Given the description of an element on the screen output the (x, y) to click on. 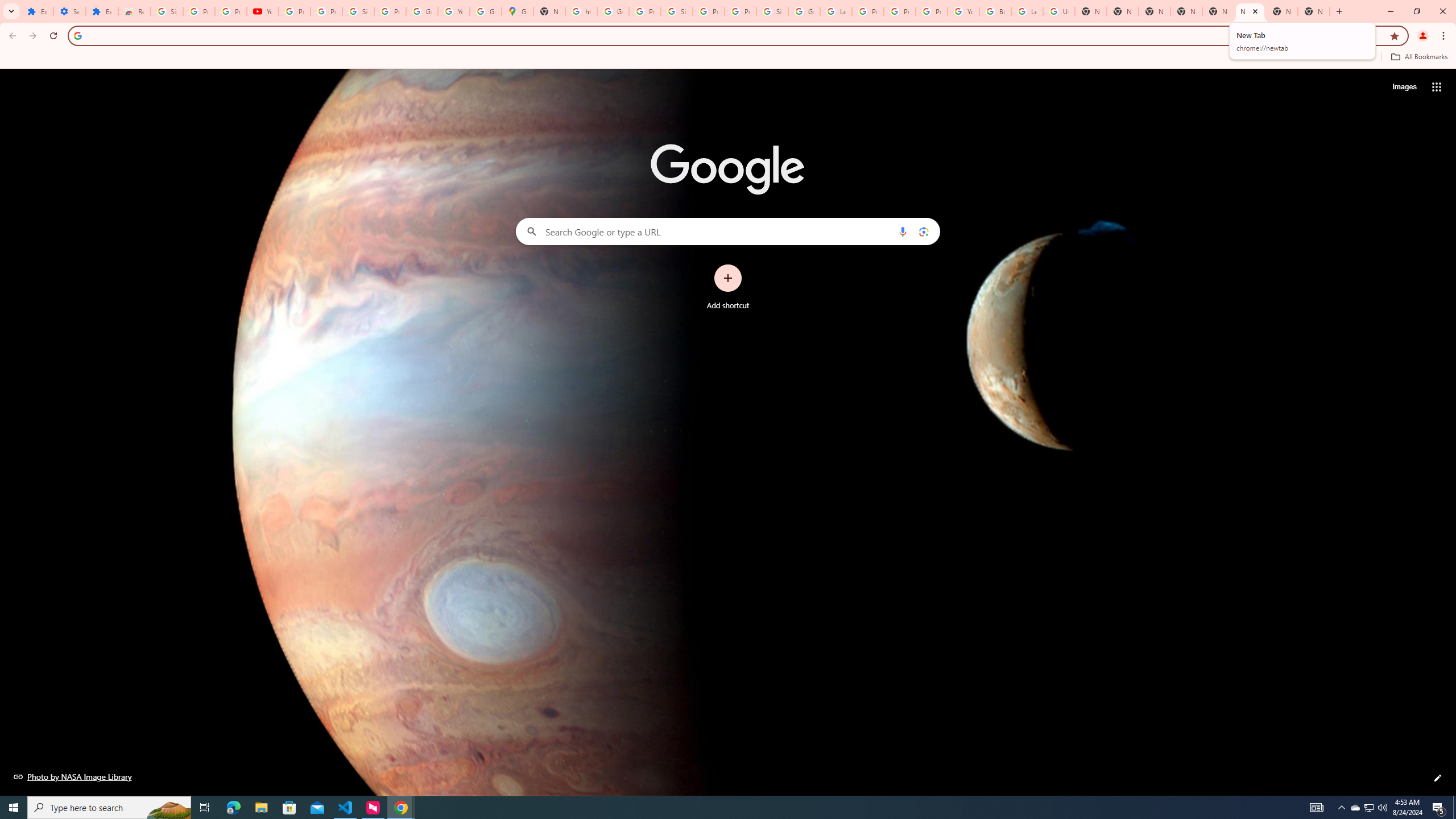
YouTube (963, 11)
Extensions (37, 11)
YouTube (262, 11)
New Tab (1154, 11)
Sign in - Google Accounts (772, 11)
